Given the description of an element on the screen output the (x, y) to click on. 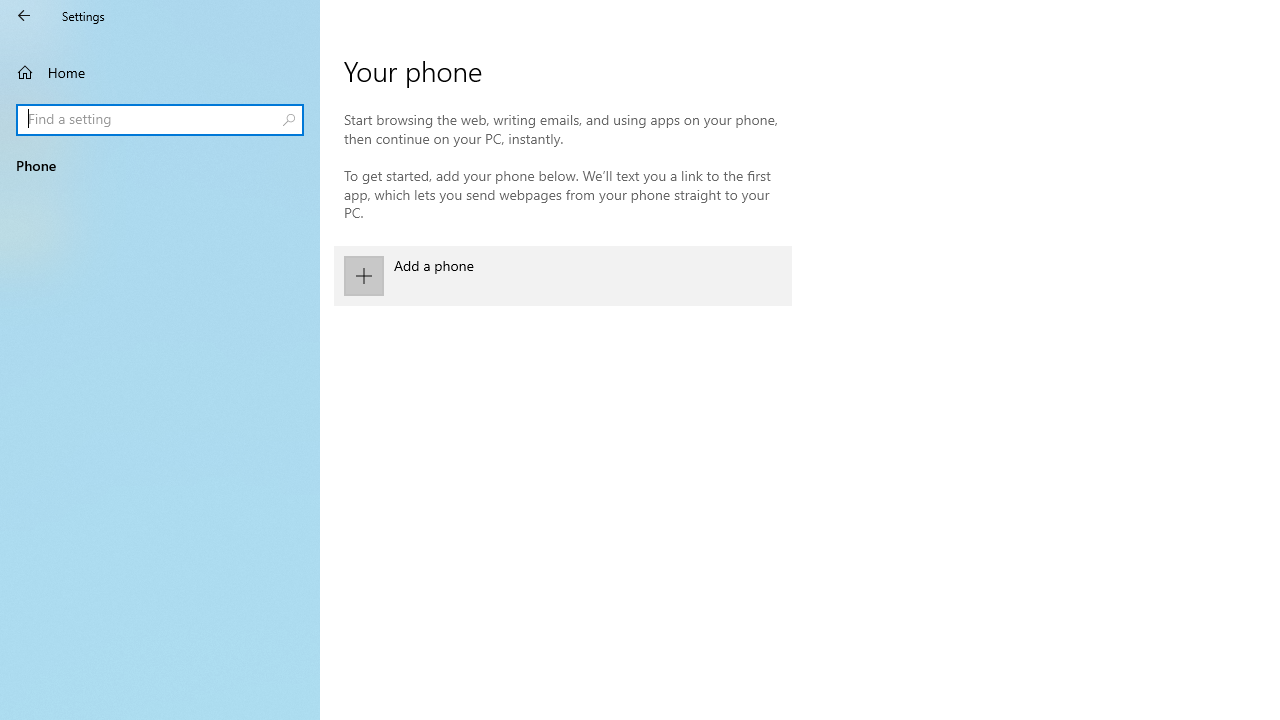
Search box, Find a setting (160, 119)
Add a phone (563, 276)
Home (160, 71)
Back (24, 15)
